Given the description of an element on the screen output the (x, y) to click on. 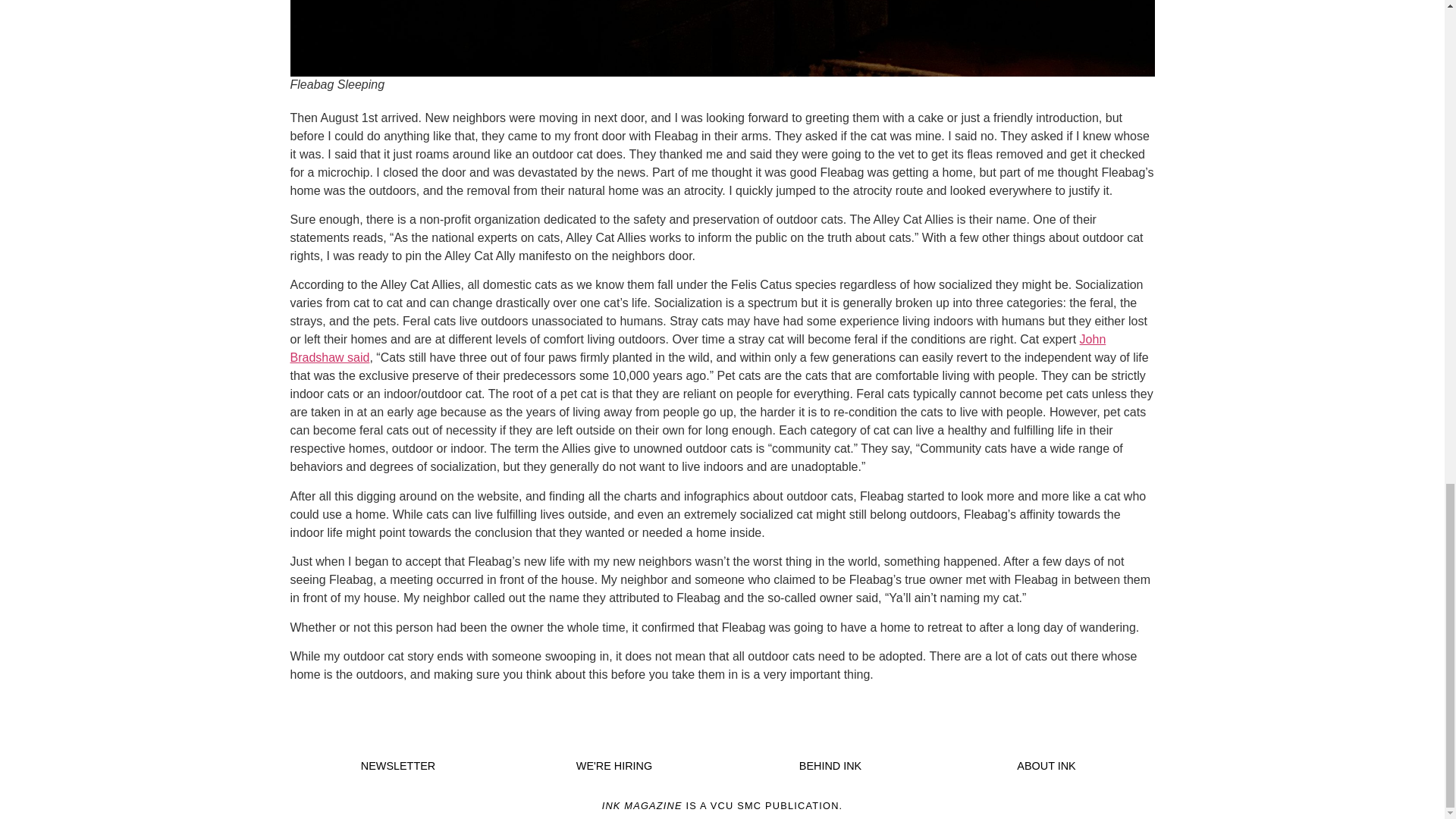
NEWSLETTER (398, 766)
WE'RE HIRING (614, 766)
BEHIND INK (830, 766)
ABOUT INK (1045, 766)
John Bradshaw said (697, 347)
